Given the description of an element on the screen output the (x, y) to click on. 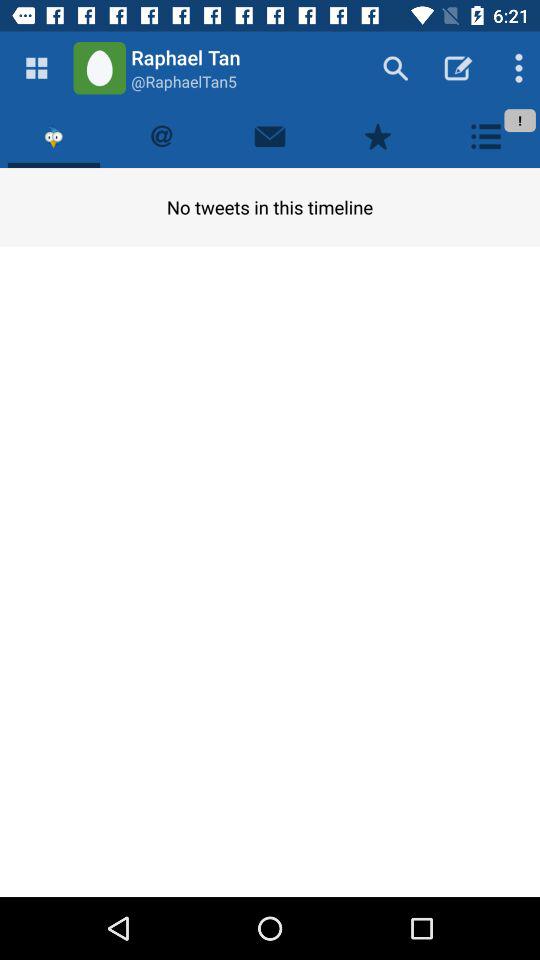
view your tweets (162, 136)
